Given the description of an element on the screen output the (x, y) to click on. 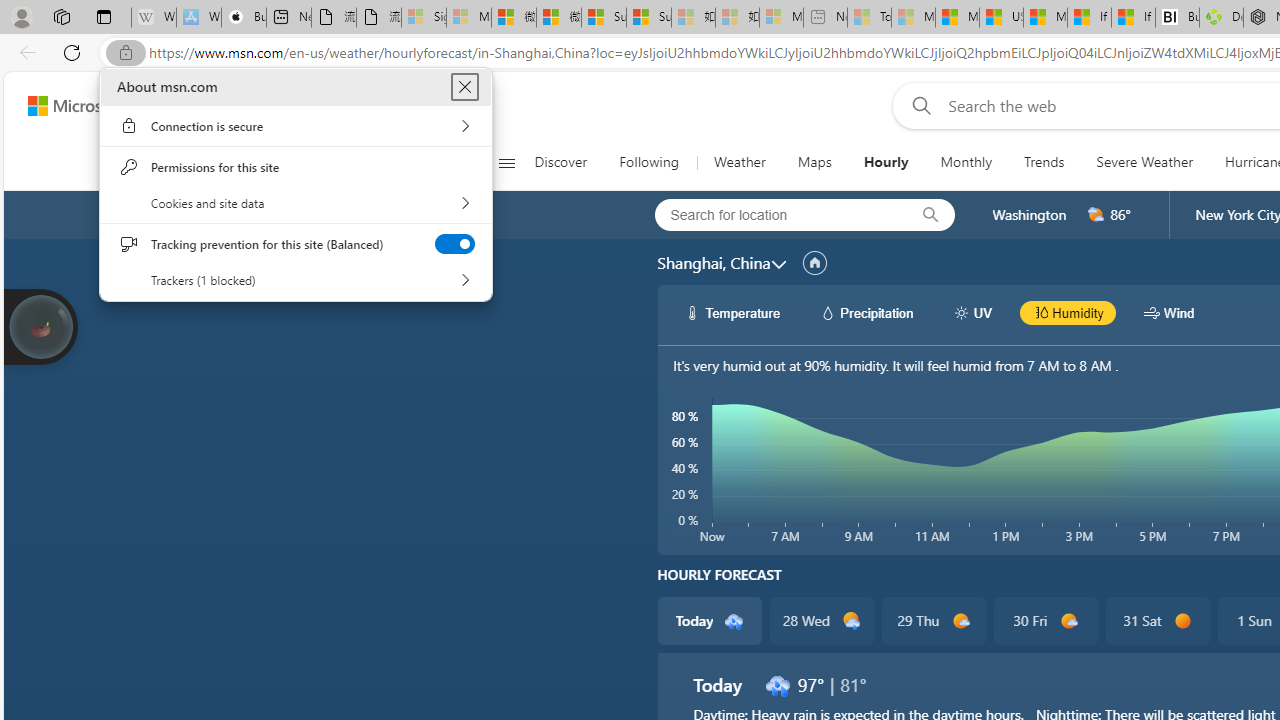
30 Fri d1000 (1045, 620)
31 Sat d0000 (1156, 620)
Microsoft Services Agreement - Sleeping (468, 17)
Hourly (885, 162)
Web search (917, 105)
hourlyChart/temperatureWhite Temperature (733, 312)
About msn.com (464, 86)
locationName/setHomeLocation (813, 263)
Severe Weather (1144, 162)
Weather (739, 162)
Maps (813, 162)
